Given the description of an element on the screen output the (x, y) to click on. 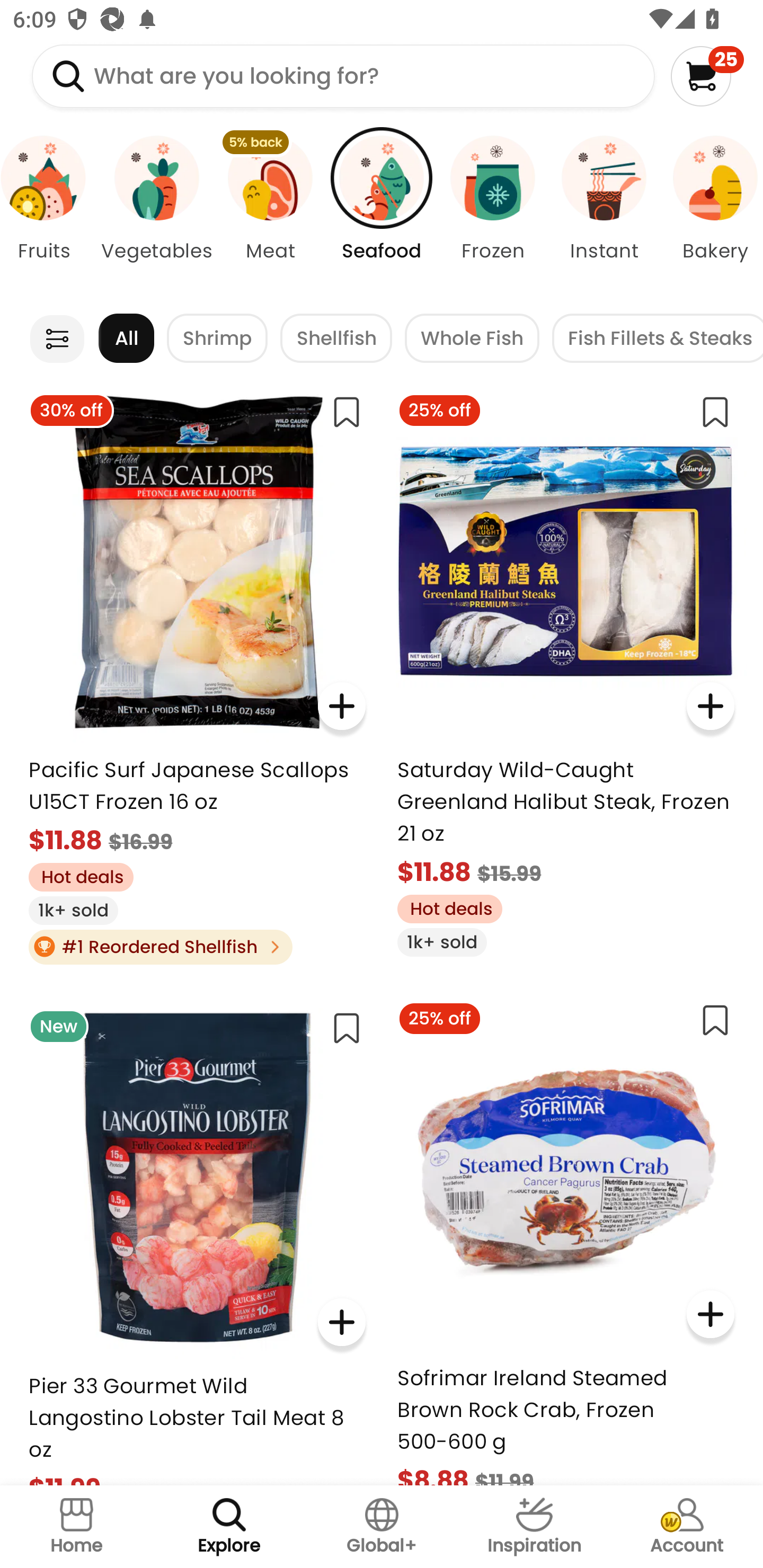
What are you looking for? (343, 75)
25 (706, 75)
Fruits (49, 214)
Vegetables (156, 214)
5% back Meat (269, 214)
Seafood (381, 214)
Frozen (492, 214)
Instant (603, 214)
Bakery (711, 214)
All (126, 337)
Shrimp (217, 337)
Shellfish (336, 337)
Whole Fish (472, 337)
Fish Fillets & Steaks (657, 337)
